Given the description of an element on the screen output the (x, y) to click on. 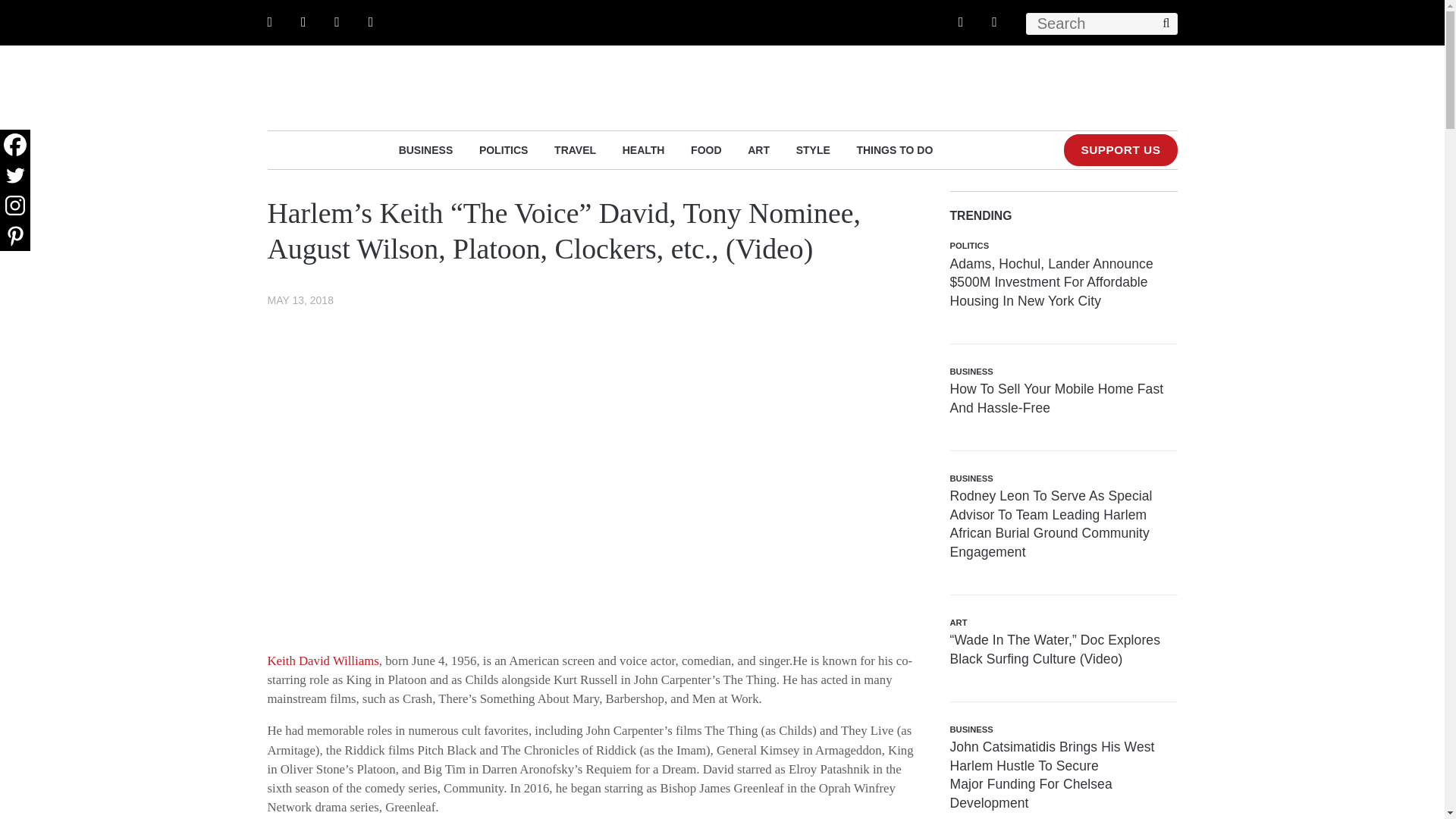
POLITICS (503, 149)
TRAVEL (574, 149)
Keith David Williams (322, 660)
STYLE (812, 149)
Facebook (15, 144)
Pinterest (15, 235)
HEALTH (644, 149)
Instagram (15, 205)
THINGS TO DO (894, 149)
SUPPORT US (1120, 150)
